Given the description of an element on the screen output the (x, y) to click on. 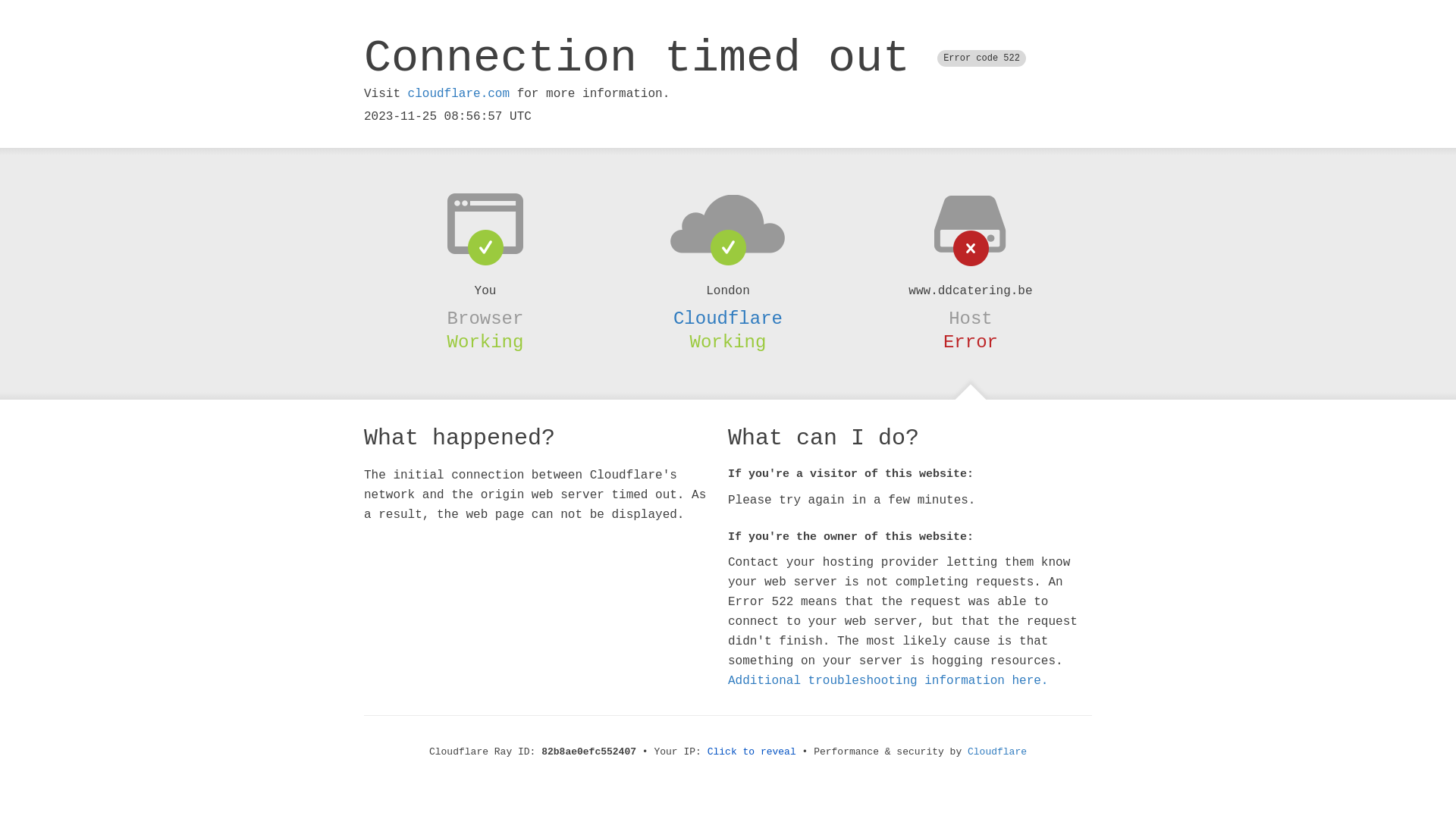
Cloudflare Element type: text (996, 751)
Additional troubleshooting information here. Element type: text (888, 680)
Click to reveal Element type: text (751, 751)
cloudflare.com Element type: text (458, 93)
Cloudflare Element type: text (727, 318)
